Given the description of an element on the screen output the (x, y) to click on. 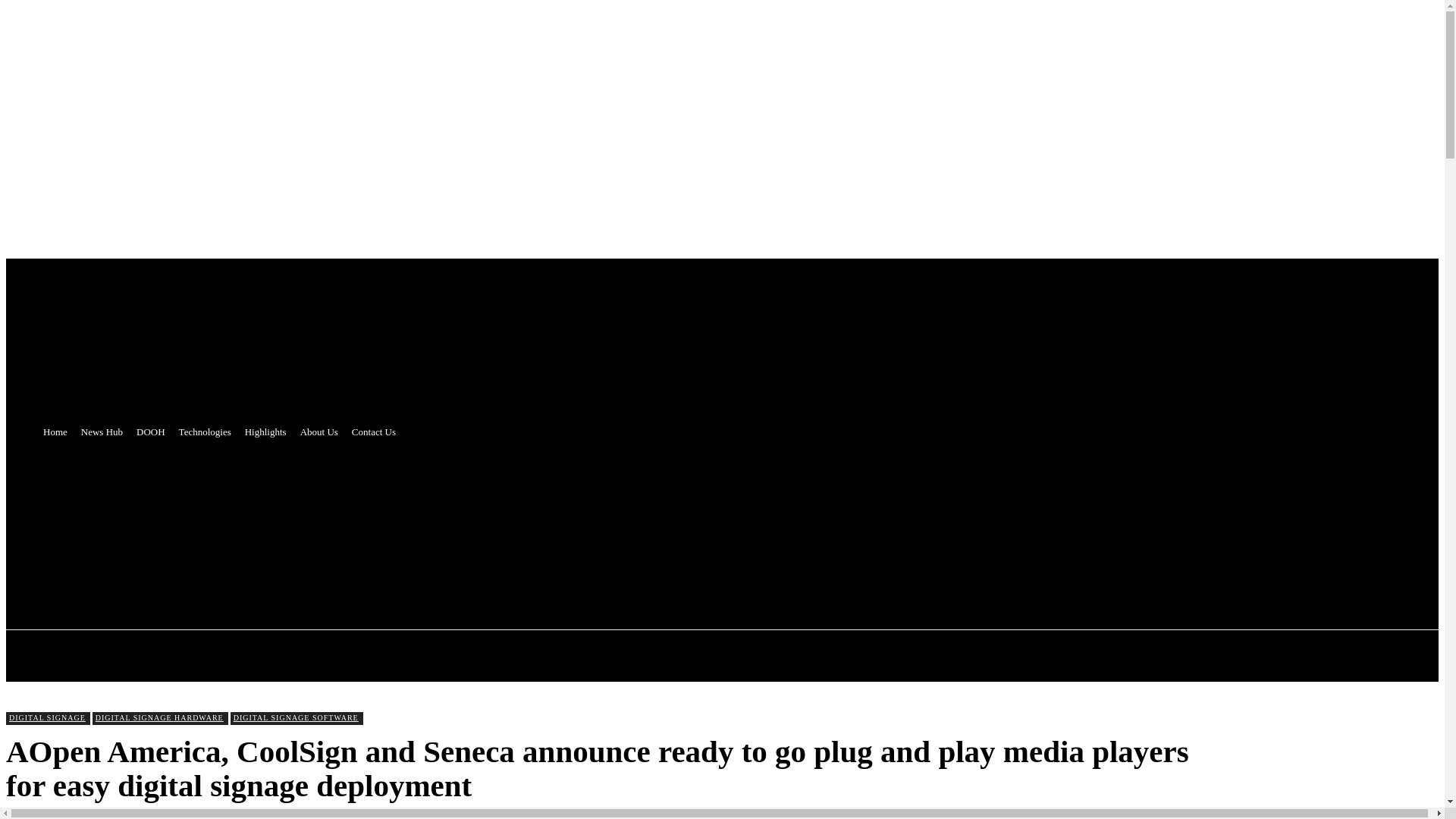
Linkedin (462, 525)
About Us (319, 432)
Highlights (266, 432)
Facebook (378, 525)
Forgot your password? Get help (83, 339)
Login (24, 325)
Technologies (204, 432)
Home (55, 432)
Pinterest (406, 525)
Google News (490, 525)
Twitter (349, 525)
DOOH (150, 432)
Send My Password (54, 398)
News Hub (101, 432)
Instagram (435, 525)
